Given the description of an element on the screen output the (x, y) to click on. 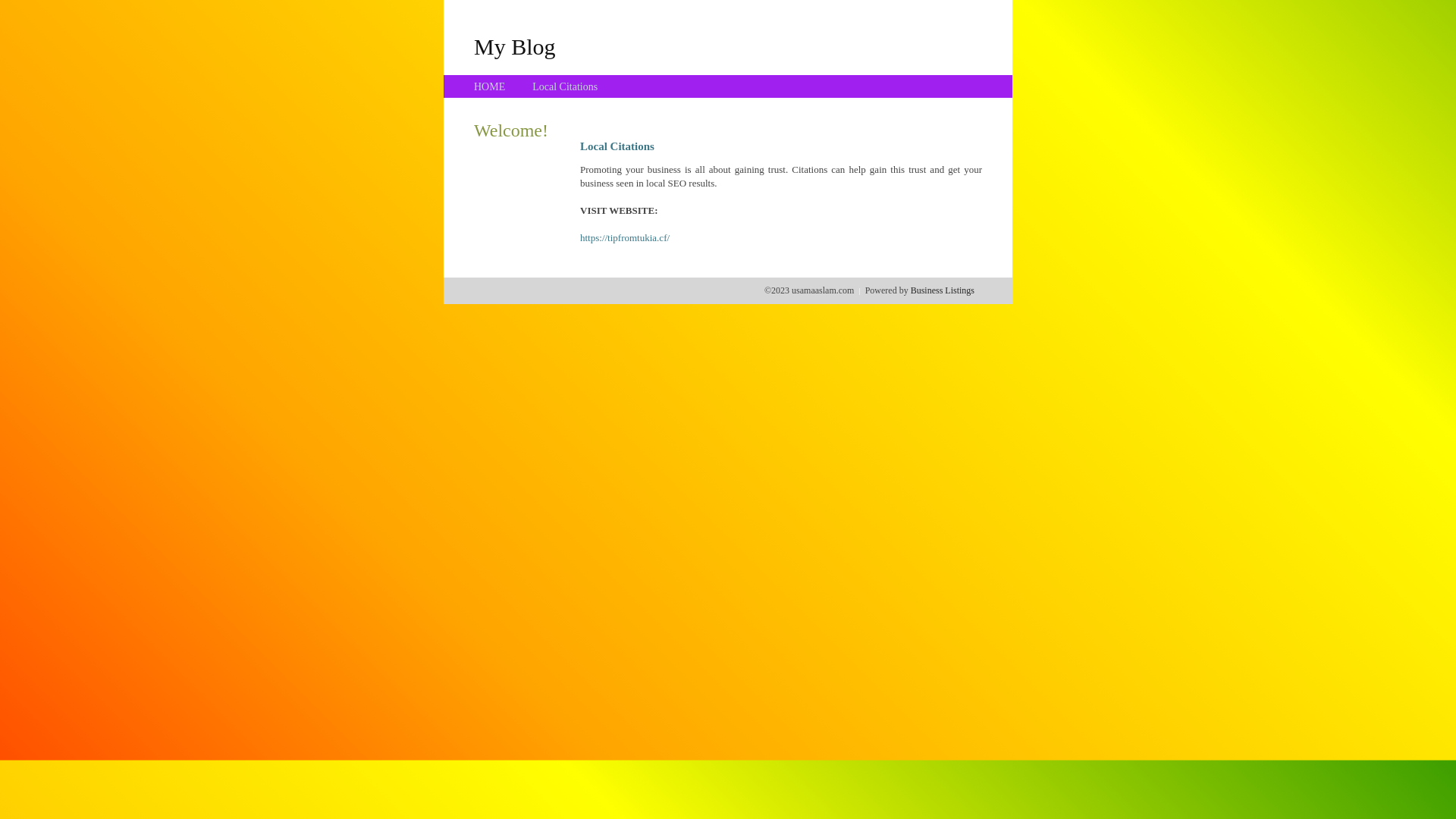
HOME Element type: text (489, 86)
My Blog Element type: text (514, 46)
https://tipfromtukia.cf/ Element type: text (624, 237)
Business Listings Element type: text (942, 290)
Local Citations Element type: text (564, 86)
